Given the description of an element on the screen output the (x, y) to click on. 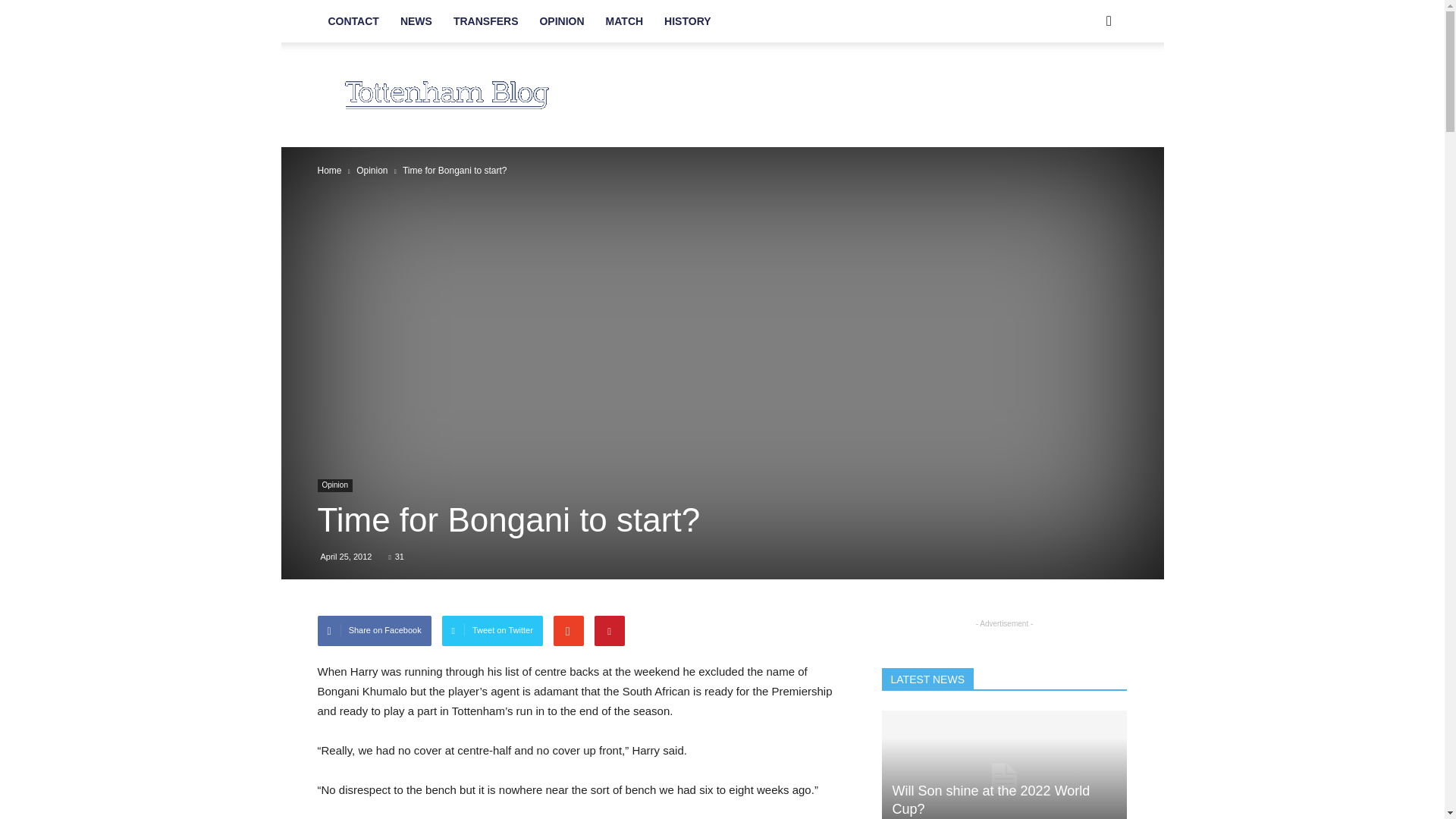
Will Son shine at the 2022 World Cup? (1003, 764)
MATCH (624, 21)
NEWS (416, 21)
TRANSFERS (485, 21)
Will Son shine at the 2022 World Cup? (990, 799)
31 (396, 556)
View all posts in Opinion (371, 170)
Home (328, 170)
OPINION (561, 21)
Opinion (334, 485)
Opinion (371, 170)
CONTACT (352, 21)
Share on Facebook (373, 630)
HISTORY (686, 21)
Tweet on Twitter (492, 630)
